Given the description of an element on the screen output the (x, y) to click on. 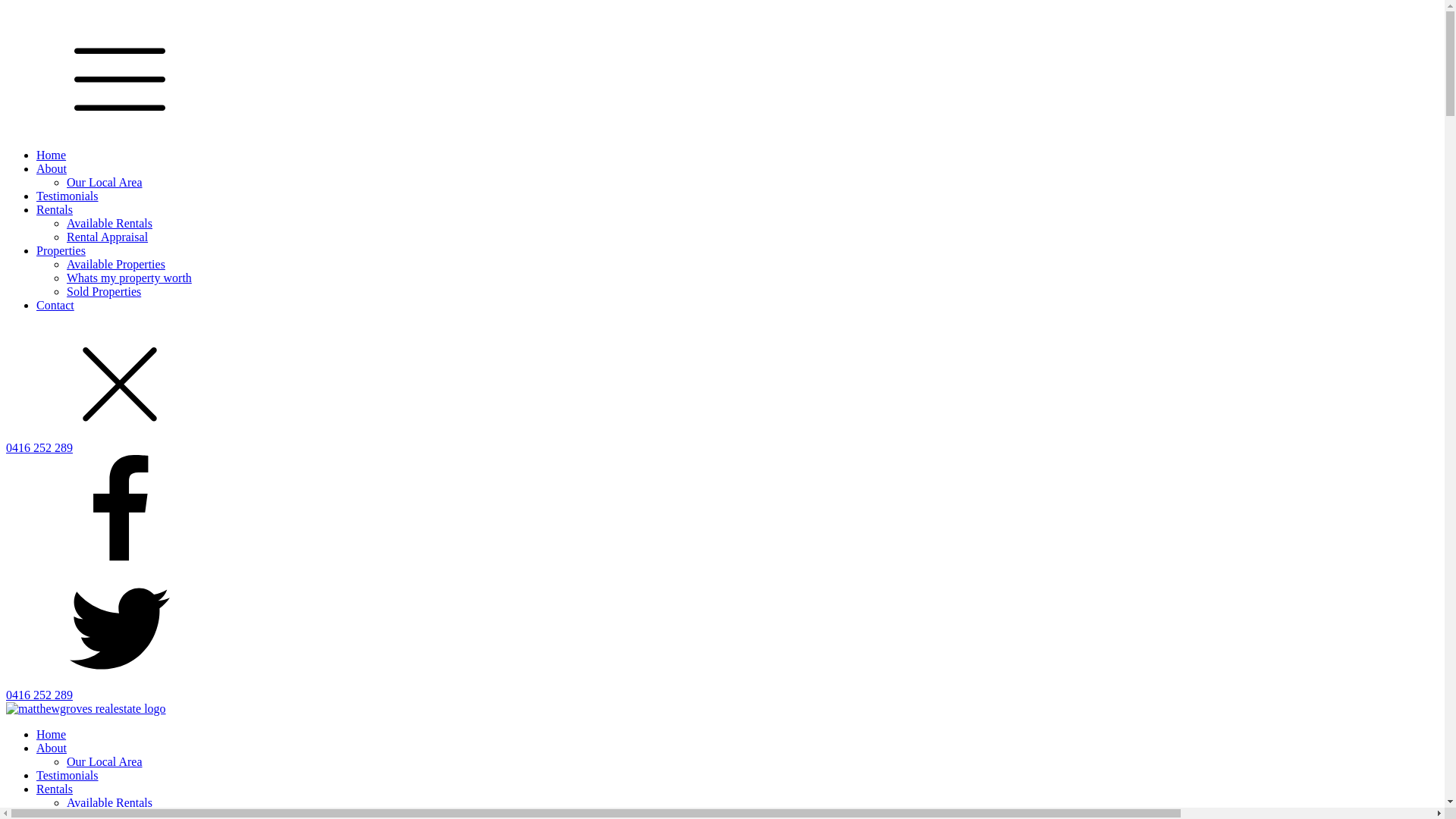
Our Local Area Element type: text (104, 181)
Contact Element type: text (55, 304)
About Element type: text (54, 747)
Testimonials Element type: text (67, 774)
Rentals Element type: text (57, 788)
Home Element type: text (50, 154)
0416 252 289 Element type: text (722, 695)
Home Element type: text (50, 734)
Available Properties Element type: text (115, 263)
0416 252 289 Element type: text (722, 448)
Our Local Area Element type: text (104, 761)
Sold Properties Element type: text (103, 291)
Rentals Element type: text (54, 209)
Whats my property worth Element type: text (128, 277)
Rental Appraisal Element type: text (106, 236)
Testimonials Element type: text (67, 195)
Available Rentals Element type: text (109, 222)
About Element type: text (51, 168)
Properties Element type: text (60, 250)
Available Rentals Element type: text (109, 802)
